Given the description of an element on the screen output the (x, y) to click on. 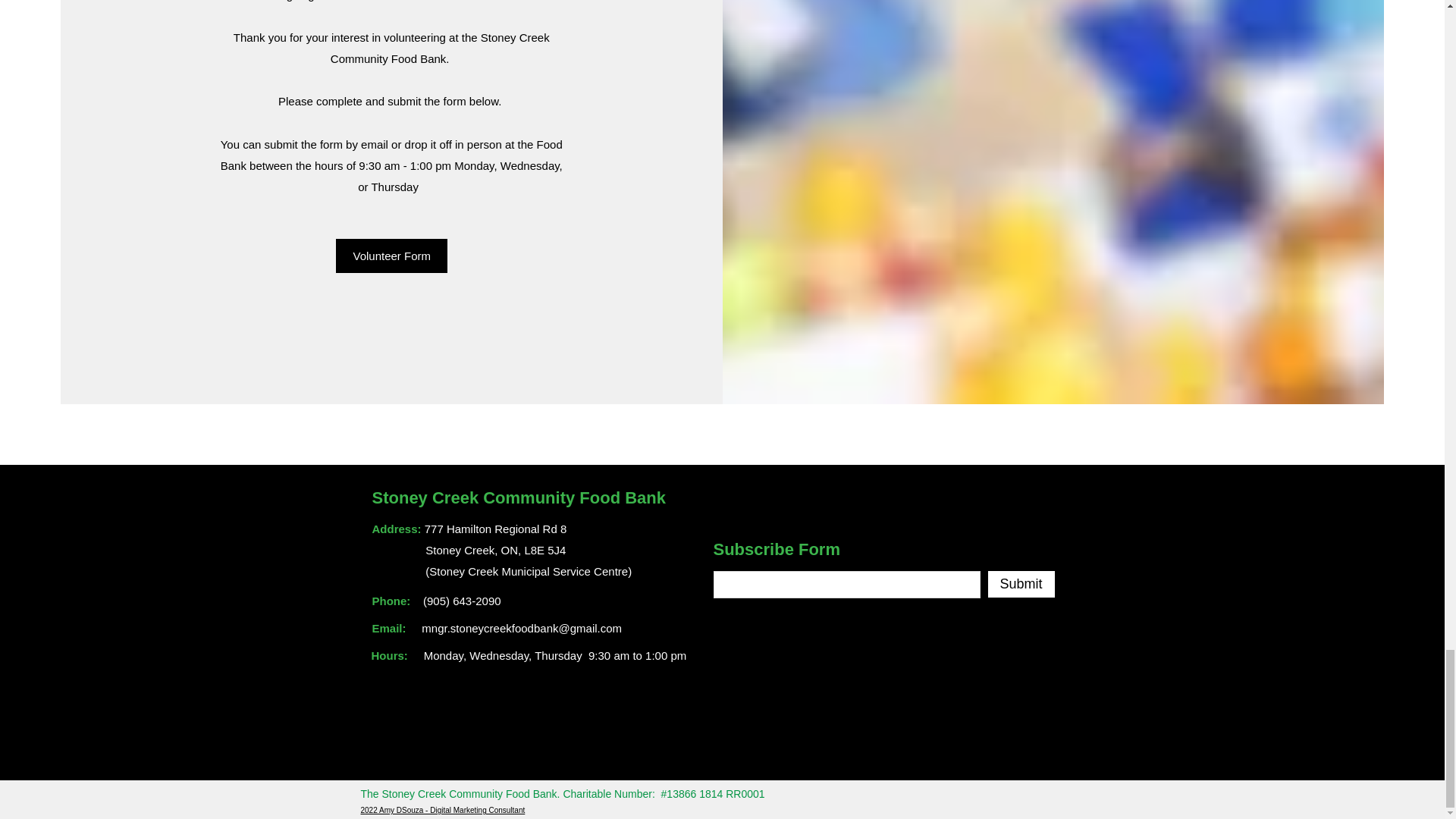
Submit (1020, 583)
2022 Amy DSouza - Digital Marketing Consultant (443, 809)
Stoney Creek Community Food Bank (518, 497)
Volunteer Form (391, 255)
